Given the description of an element on the screen output the (x, y) to click on. 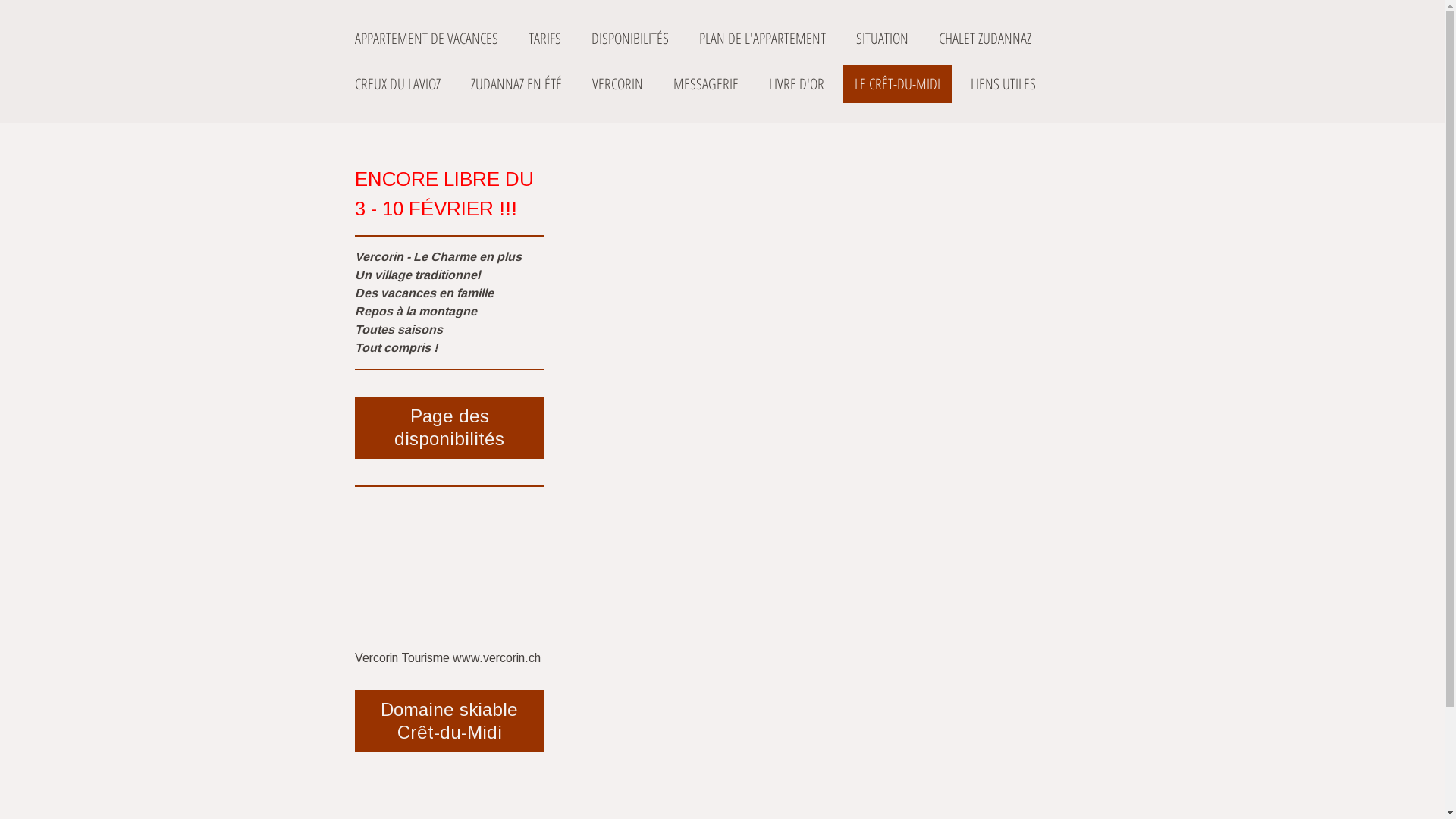
TARIFS Element type: text (544, 38)
LIVRE D'OR Element type: text (795, 84)
SITUATION Element type: text (881, 38)
CREUX DU LAVIOZ Element type: text (396, 84)
PLAN DE L'APPARTEMENT Element type: text (761, 38)
MESSAGERIE Element type: text (705, 84)
CHALET ZUDANNAZ Element type: text (983, 38)
VERCORIN Element type: text (617, 84)
LIENS UTILES Element type: text (1002, 84)
APPARTEMENT DE VACANCES Element type: text (425, 38)
